Given the description of an element on the screen output the (x, y) to click on. 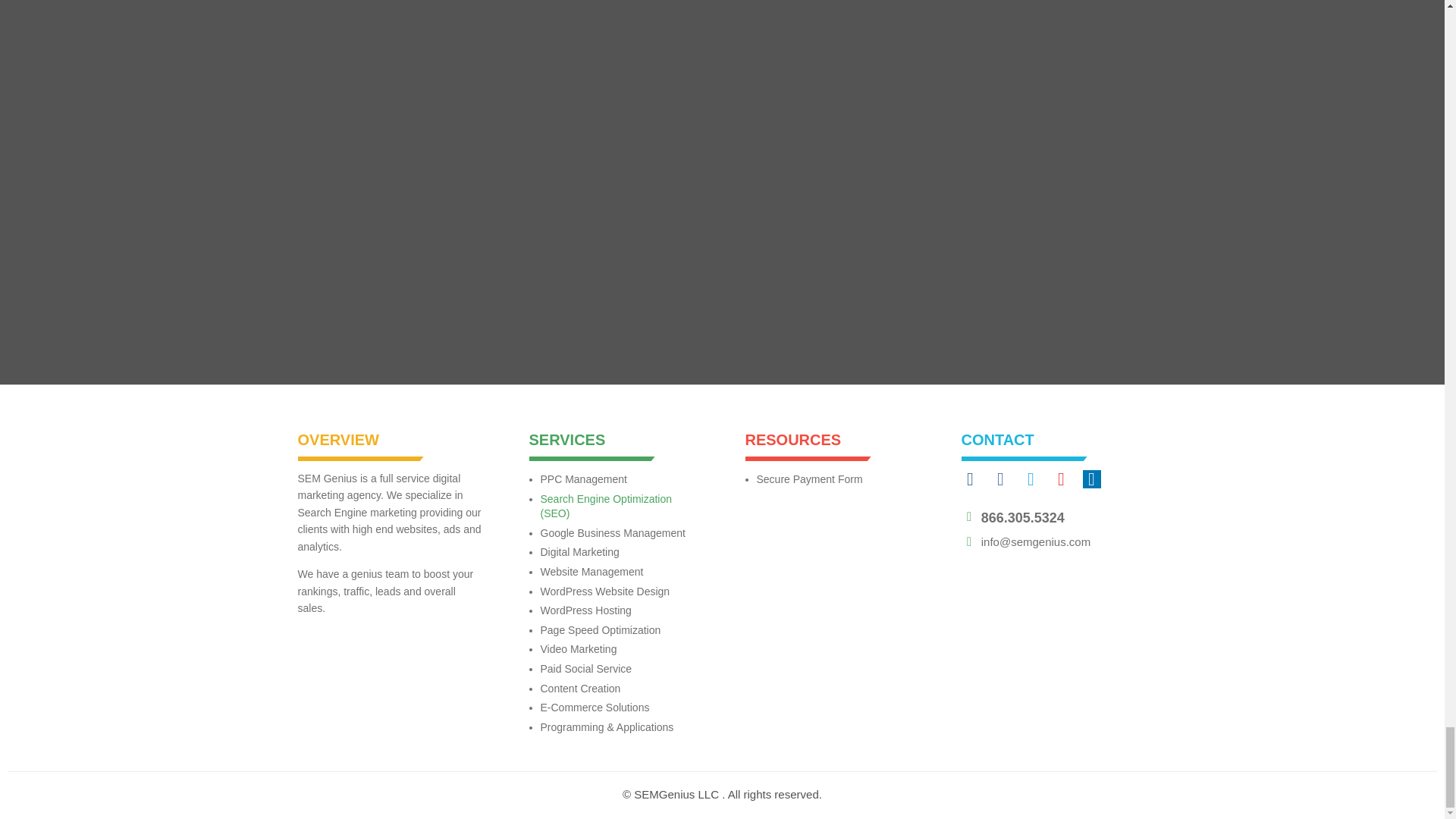
Submit (371, 275)
